Given the description of an element on the screen output the (x, y) to click on. 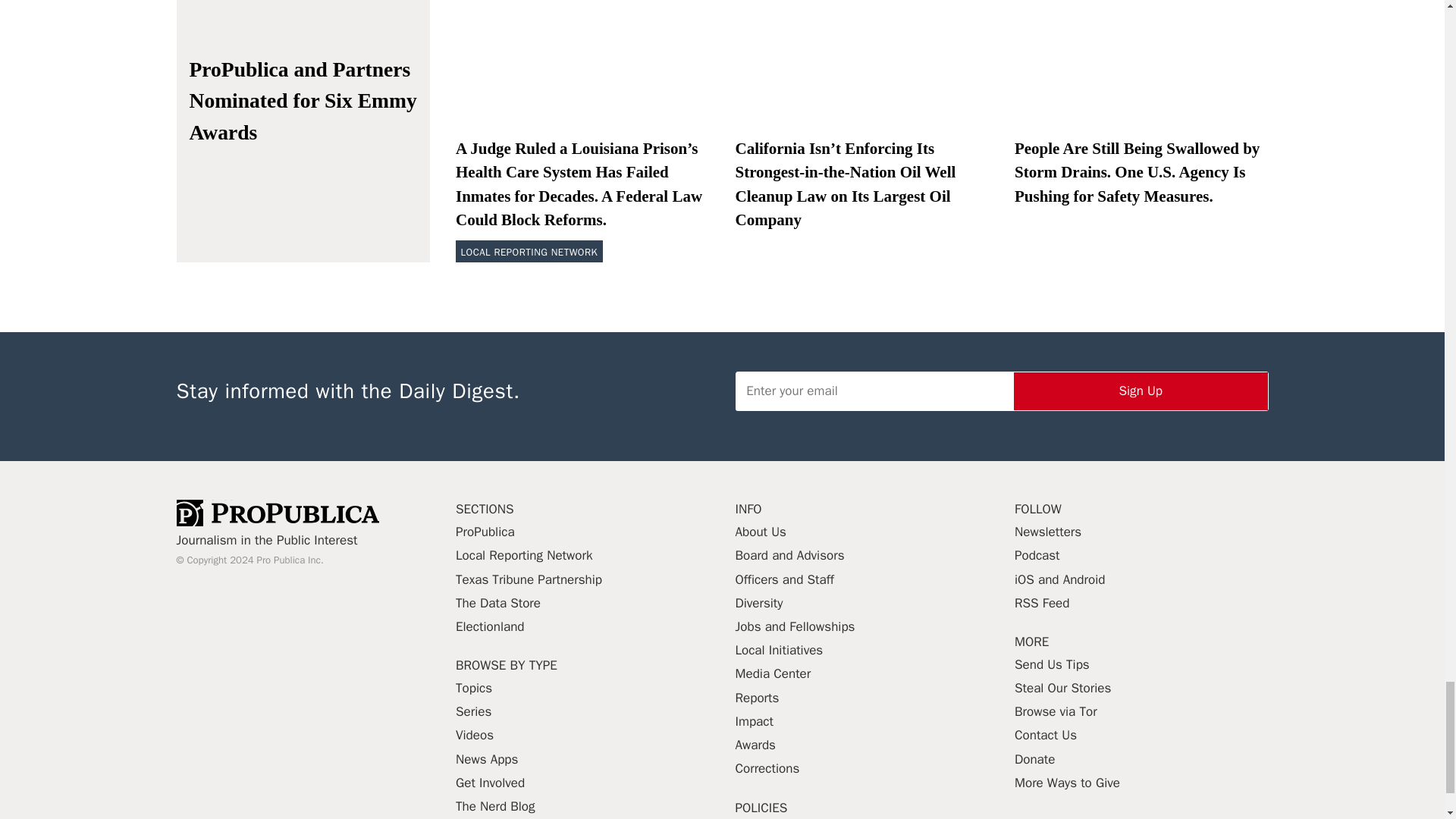
Sign Up (1140, 391)
